Given the description of an element on the screen output the (x, y) to click on. 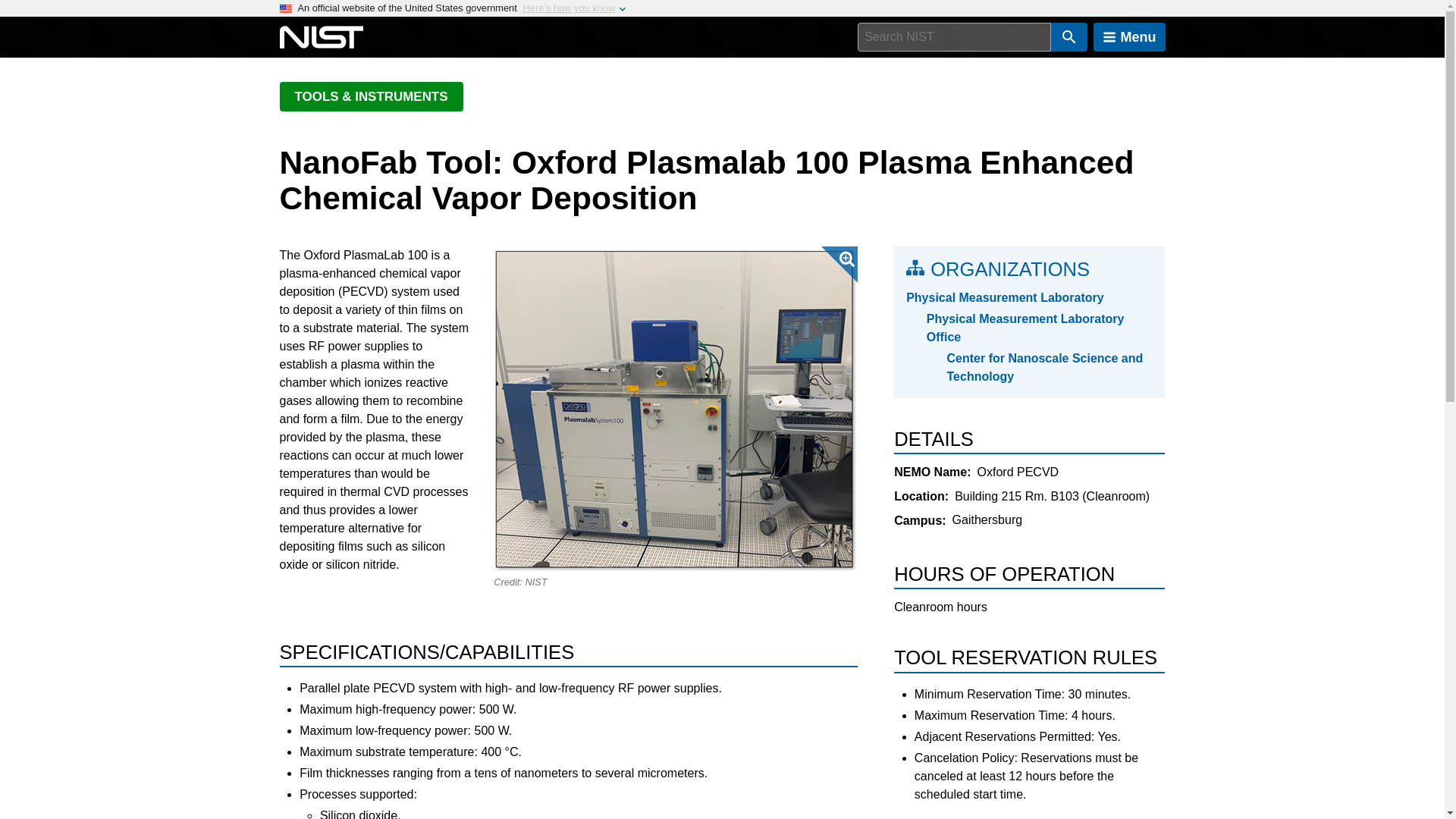
Center for Nanoscale Science and Technology (1050, 367)
Physical Measurement Laboratory (1029, 298)
Physical Measurement Laboratory Office (1039, 328)
National Institute of Standards and Technology (320, 36)
Menu (1129, 36)
